Given the description of an element on the screen output the (x, y) to click on. 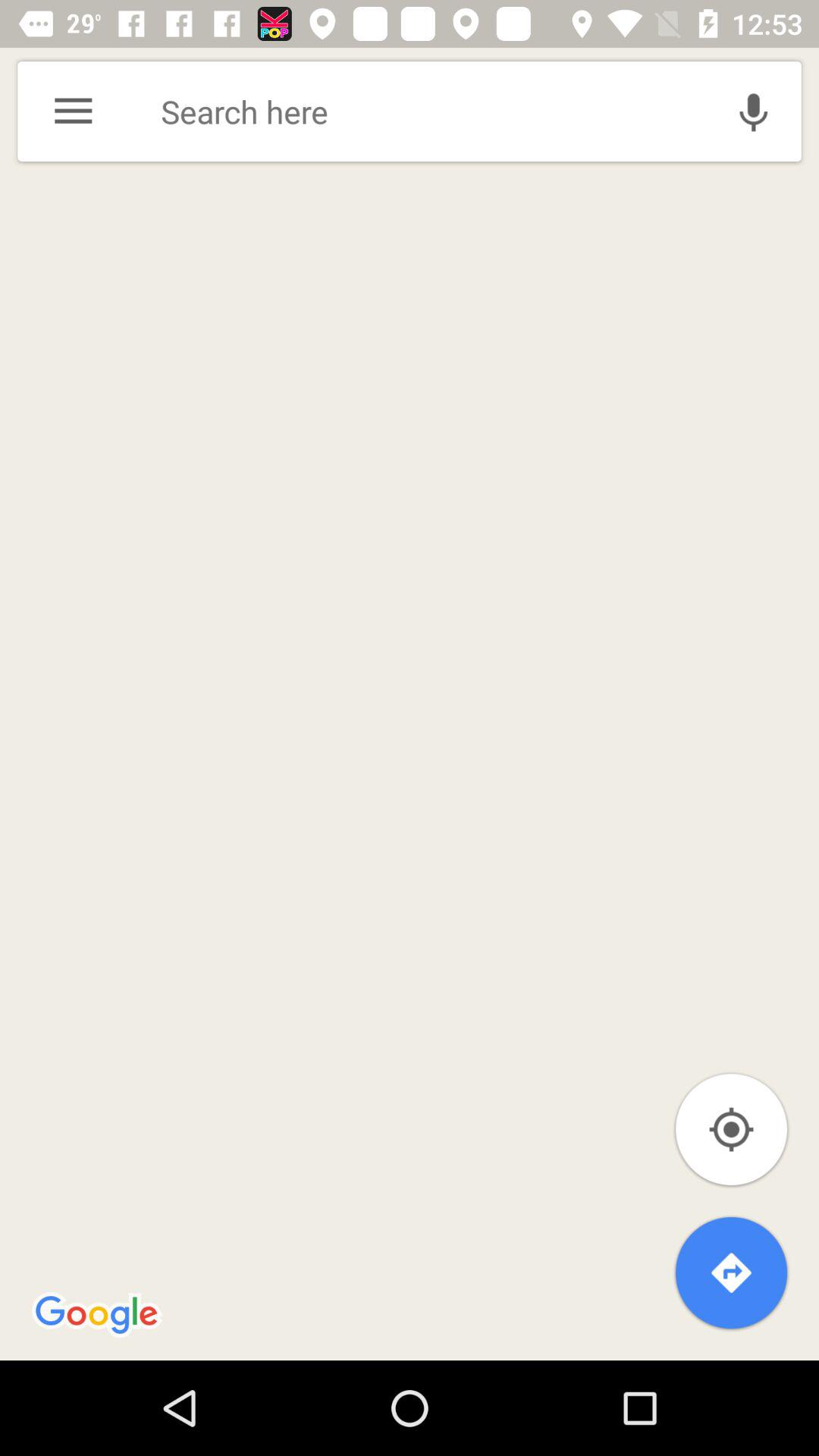
open icon at the top right corner (753, 111)
